Given the description of an element on the screen output the (x, y) to click on. 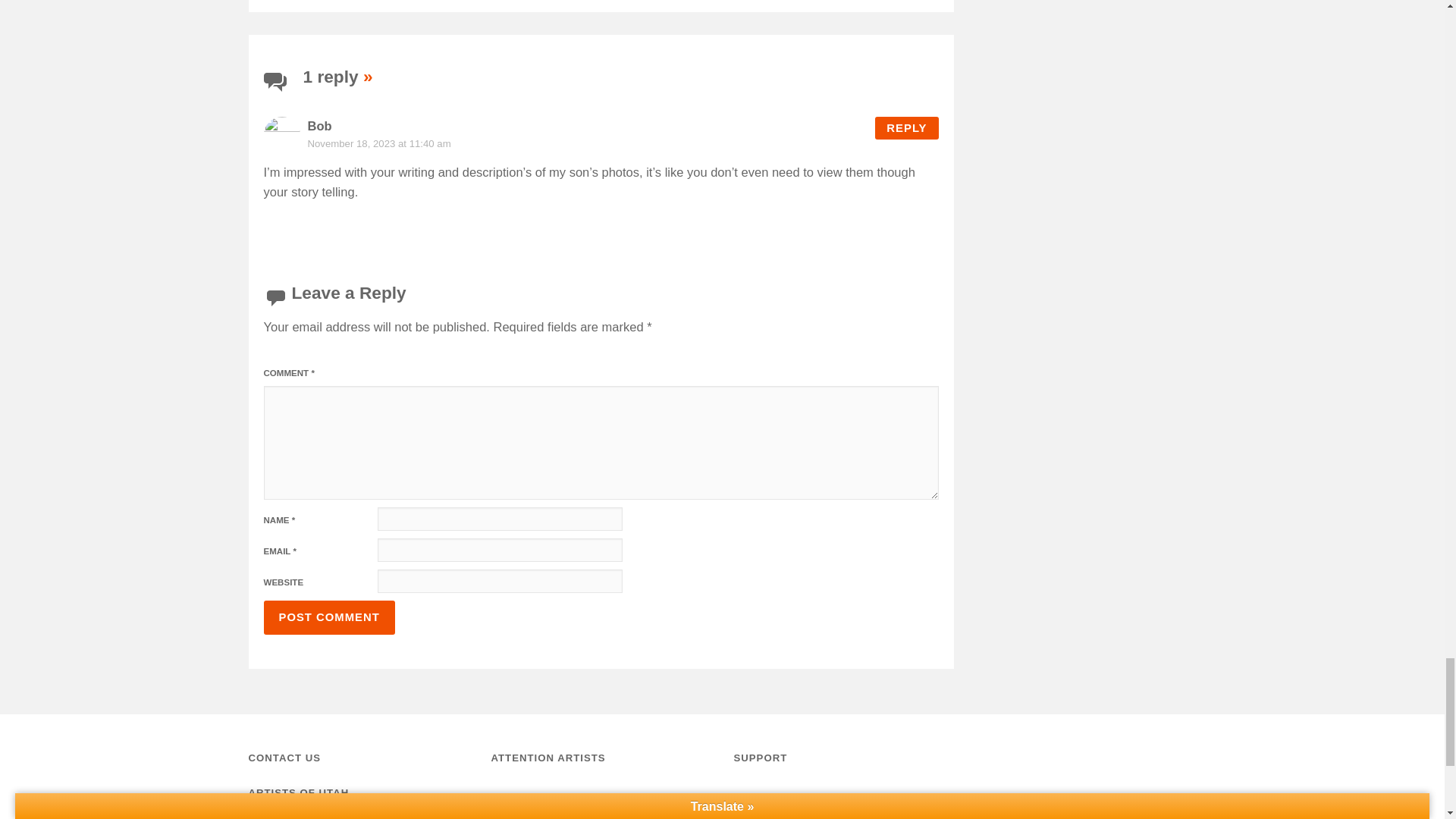
Post Comment (328, 617)
